Given the description of an element on the screen output the (x, y) to click on. 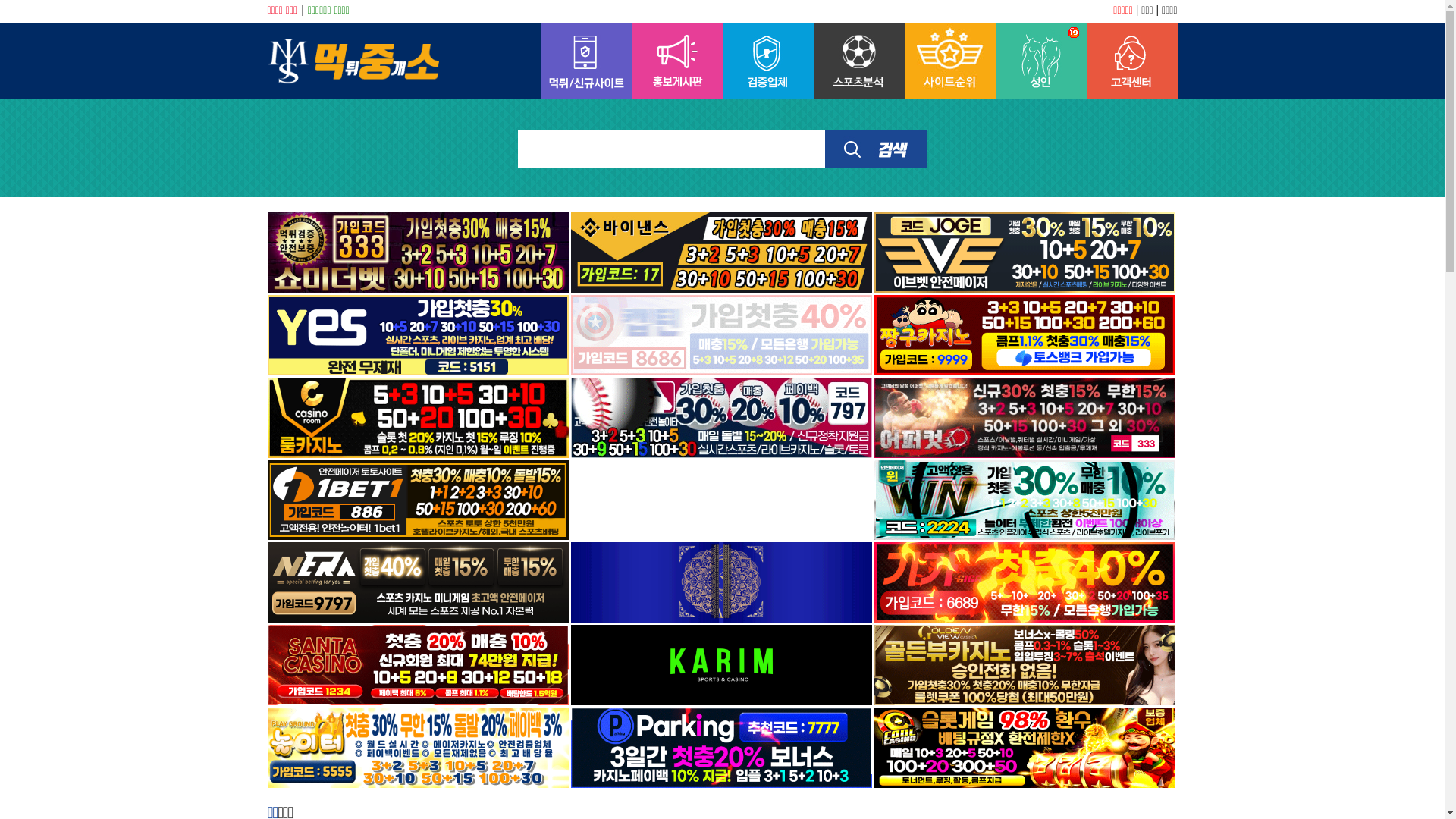
| Element type: text (302, 9)
